Given the description of an element on the screen output the (x, y) to click on. 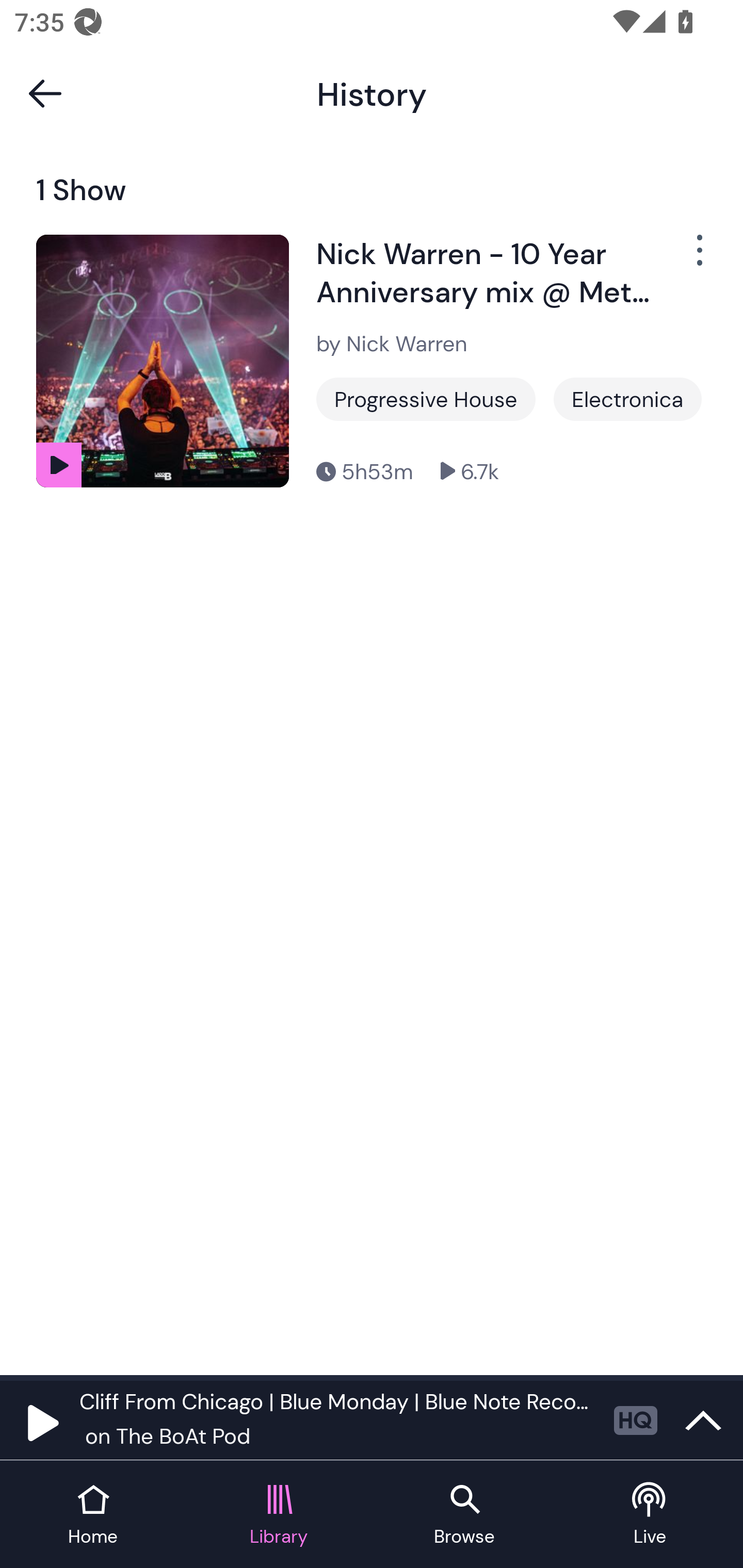
Show Options Menu Button (697, 258)
Progressive House (425, 398)
Electronica (627, 398)
Home tab Home (92, 1515)
Library tab Library (278, 1515)
Browse tab Browse (464, 1515)
Live tab Live (650, 1515)
